Given the description of an element on the screen output the (x, y) to click on. 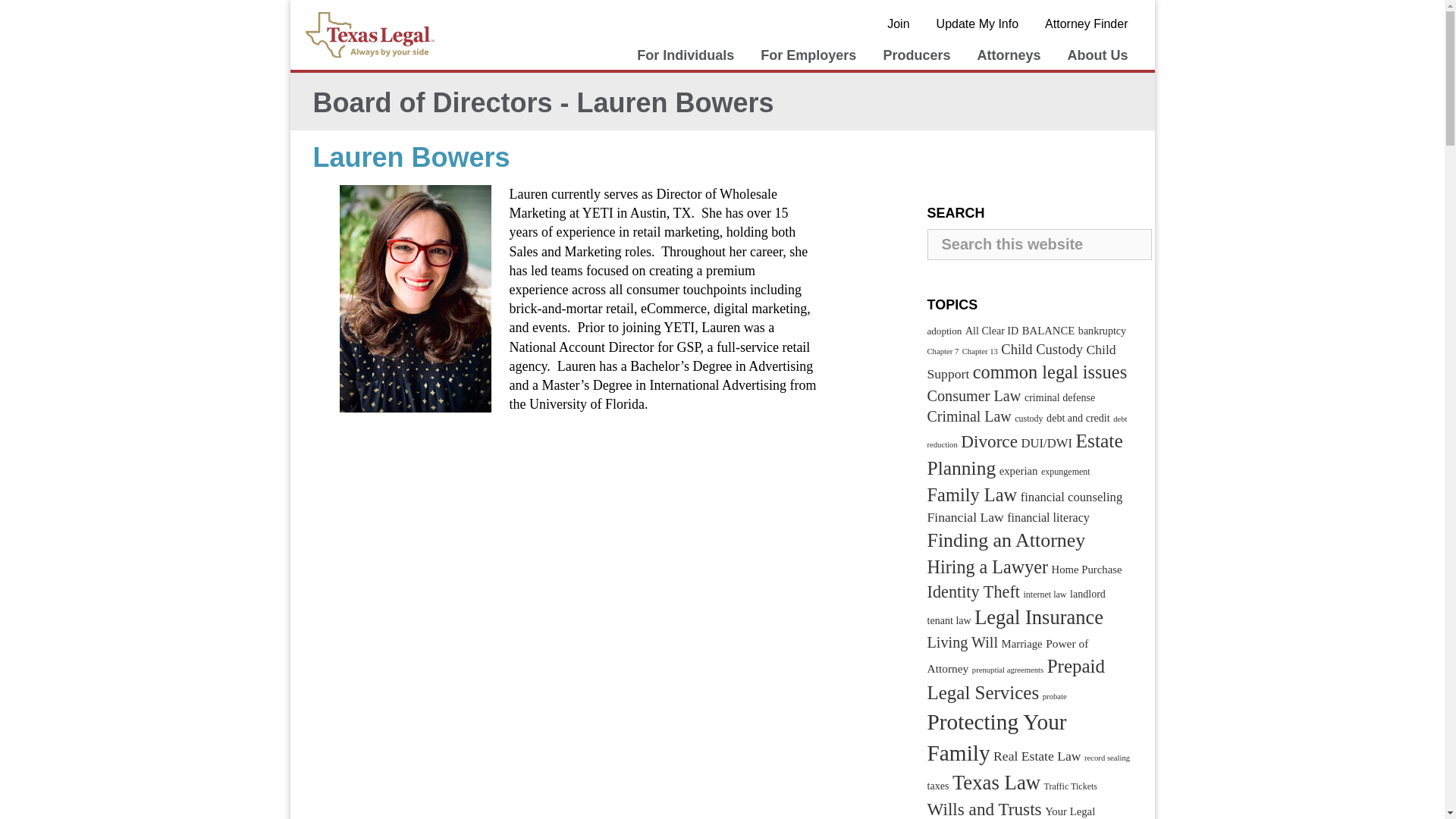
Join (898, 23)
Producers (915, 54)
For Employers (808, 54)
Update My Info (977, 23)
For Individuals (685, 54)
Attorneys (1008, 54)
Attorney Finder (1085, 23)
About Us (1096, 54)
TEXAS LEGAL (371, 34)
